Given the description of an element on the screen output the (x, y) to click on. 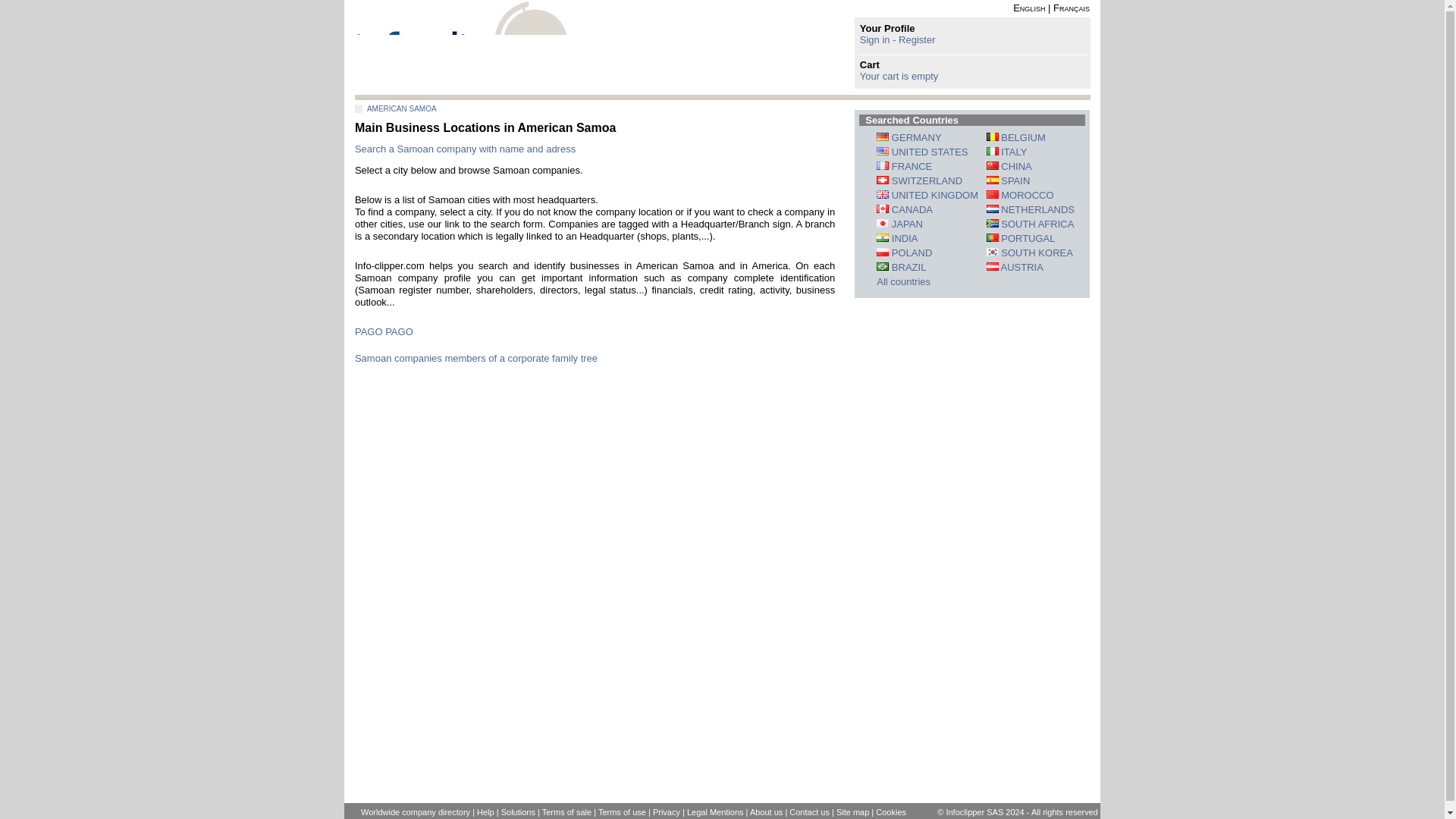
CHINA (1009, 165)
CANADA (904, 209)
About us (766, 811)
BELGIUM (1016, 137)
GERMANY (908, 137)
ITALY (1007, 152)
Privacy (665, 811)
All countries (903, 281)
 NETHERLANDS (1030, 209)
 UNITED STATES (922, 152)
